Given the description of an element on the screen output the (x, y) to click on. 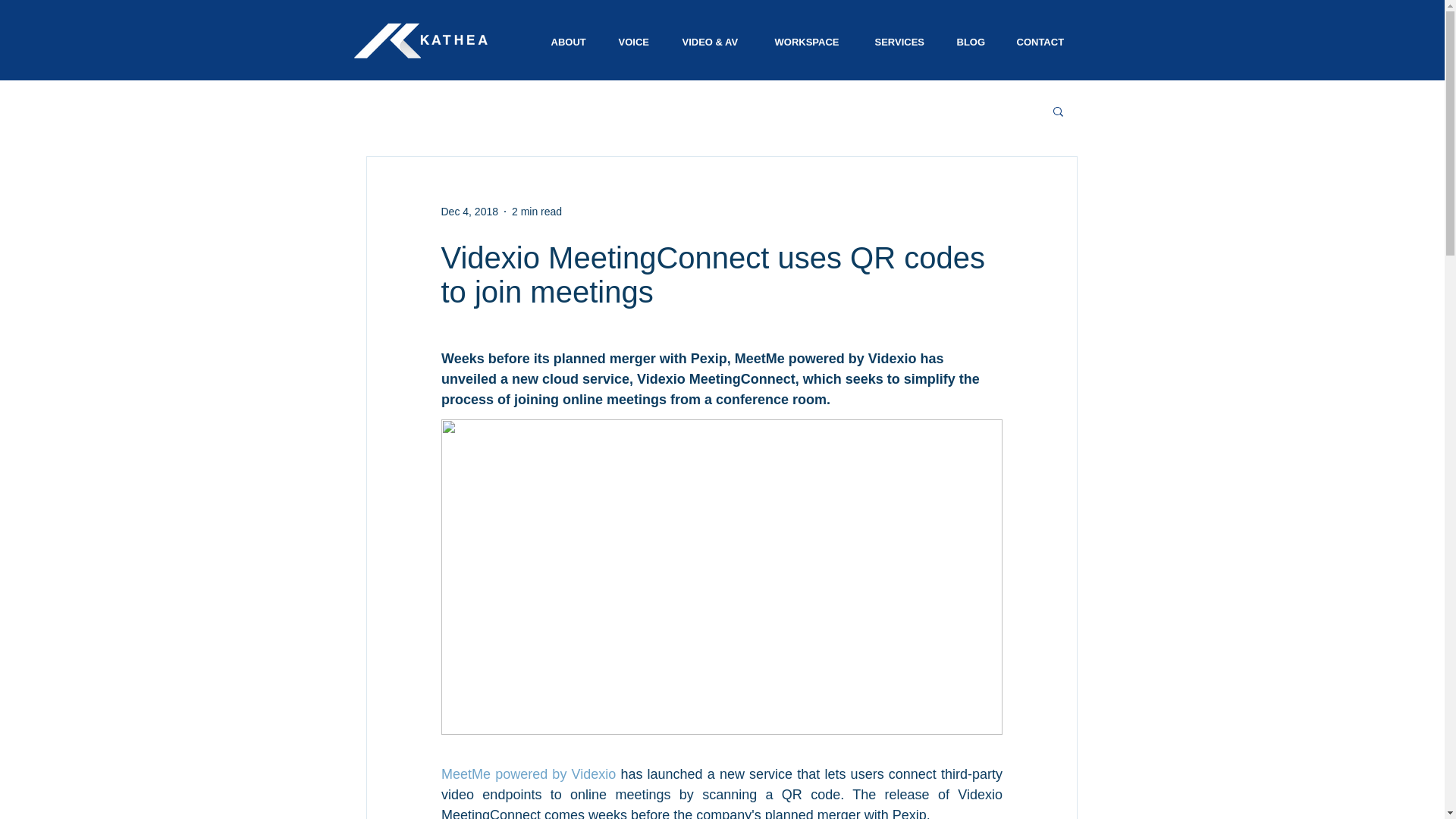
MeetMe powered by Videxio (528, 774)
CONTACT (1042, 41)
BLOG (971, 41)
2 min read (537, 210)
VOICE (635, 41)
SERVICES (901, 41)
WORKSPACE (810, 41)
ABOUT (568, 41)
Dec 4, 2018 (470, 210)
